Given the description of an element on the screen output the (x, y) to click on. 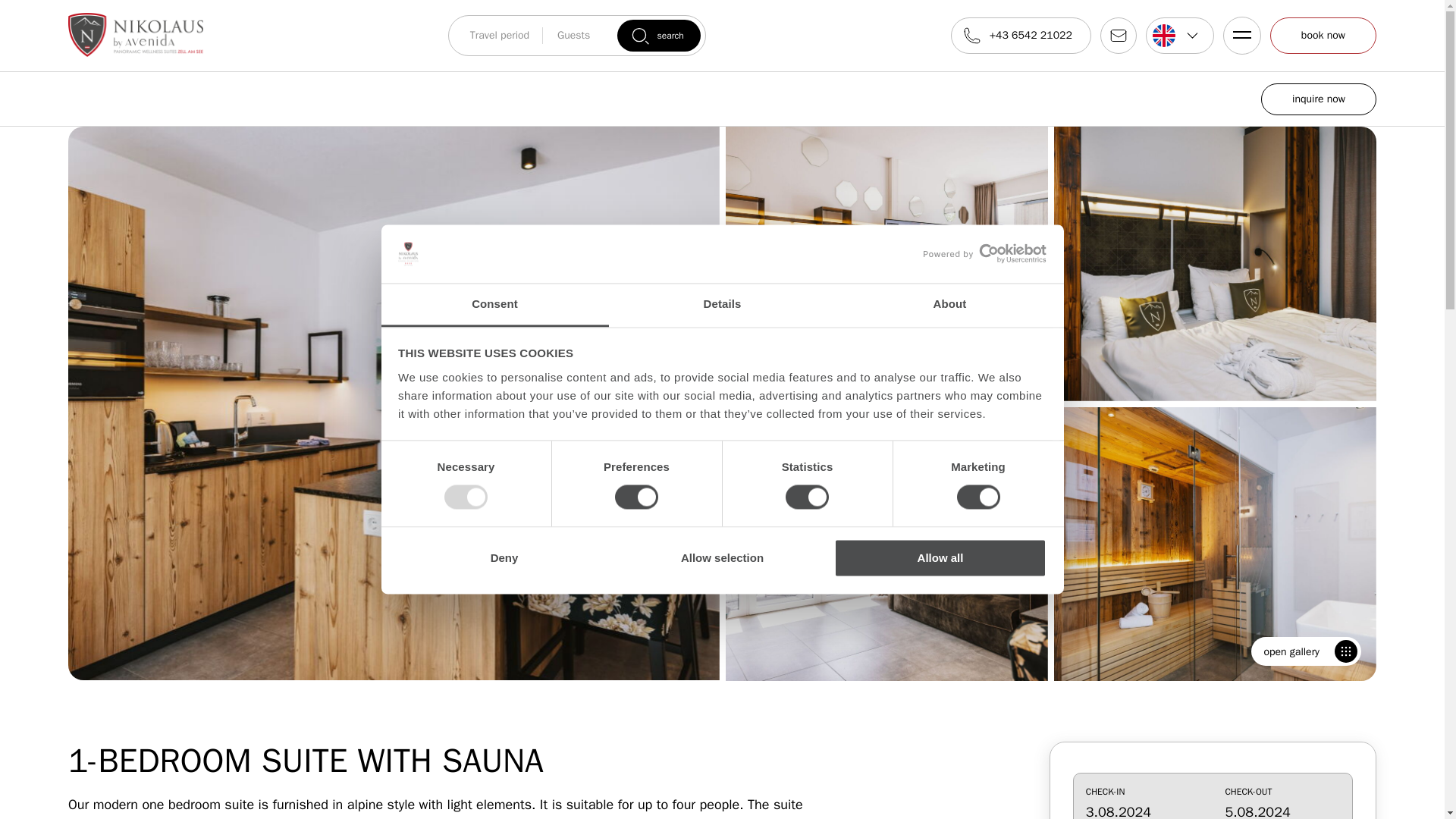
Nikolaus by AvenidA (135, 35)
Allow selection (721, 557)
Allow all (940, 557)
Consent (494, 304)
Deny (503, 557)
customize search (1212, 796)
About (948, 304)
open gallery (1305, 651)
Details (721, 304)
